Given the description of an element on the screen output the (x, y) to click on. 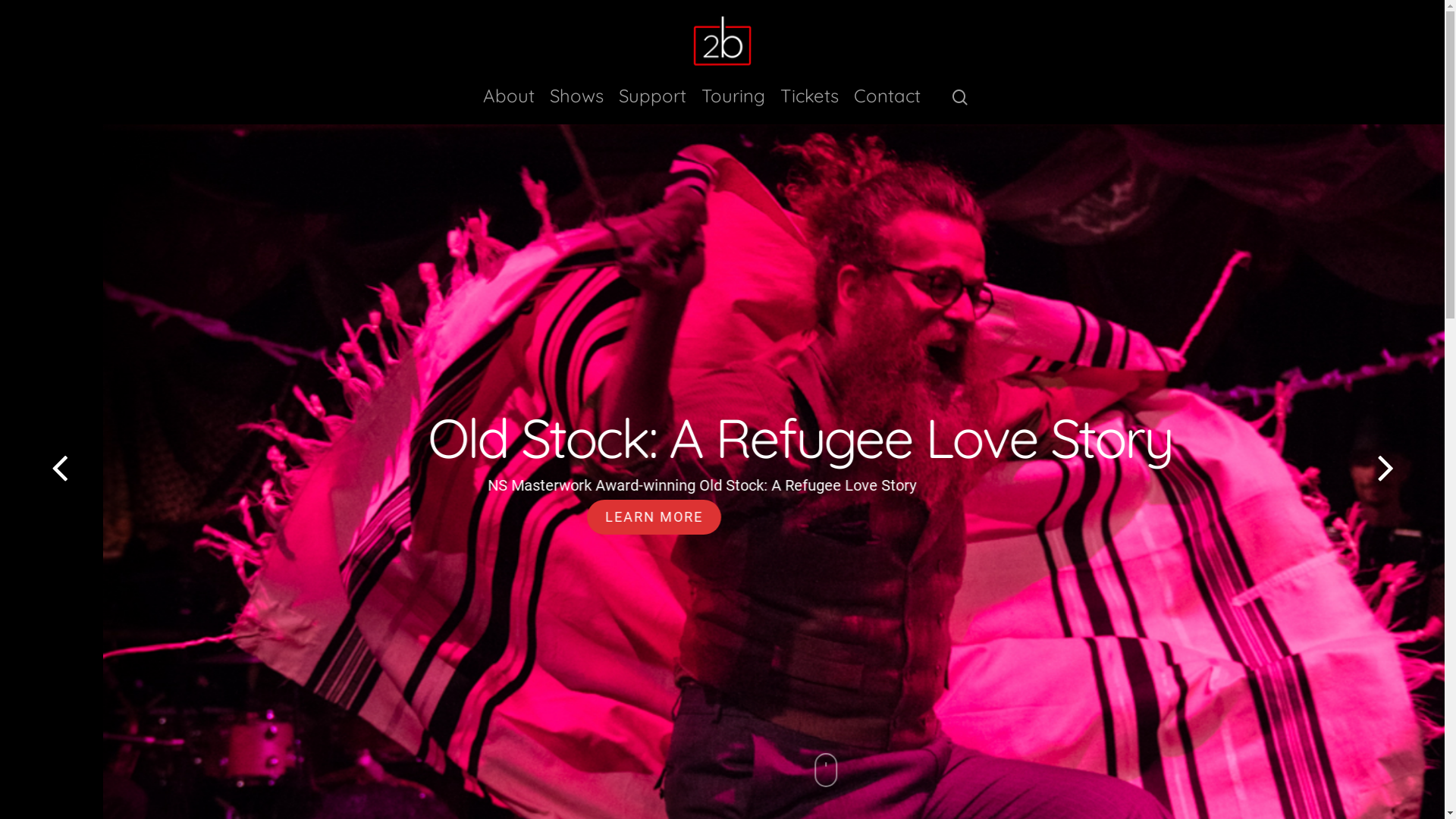
Shows Element type: text (576, 103)
Contact Element type: text (886, 103)
About Element type: text (508, 103)
Touring Element type: text (733, 103)
Tickets Element type: text (809, 103)
Support Element type: text (652, 103)
